Given the description of an element on the screen output the (x, y) to click on. 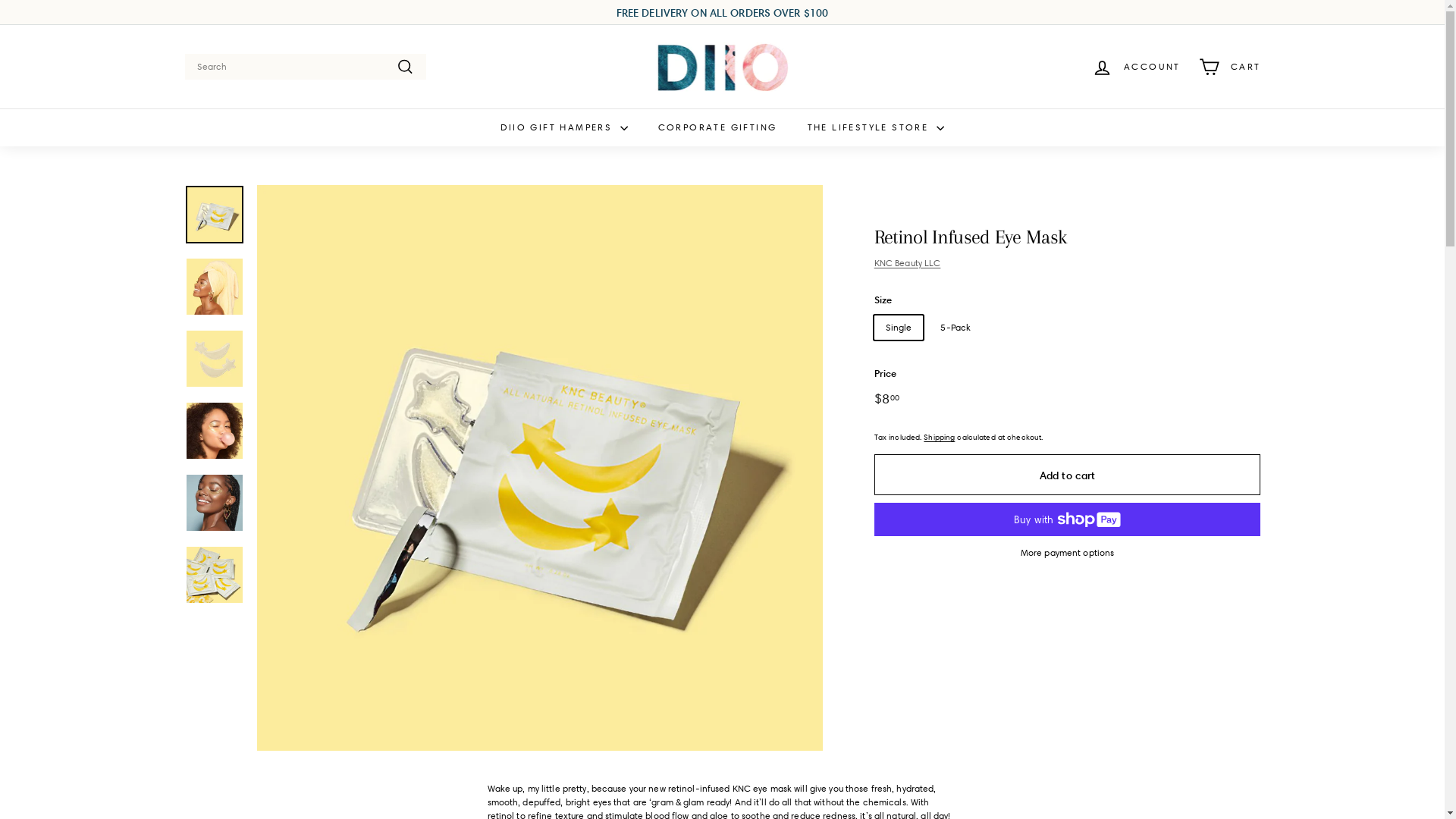
KNC Beauty LLC Element type: text (907, 262)
ACCOUNT Element type: text (1135, 66)
Add to cart Element type: text (1067, 474)
Shipping Element type: text (938, 437)
CORPORATE GIFTING Element type: text (717, 127)
More payment options Element type: text (1067, 552)
CART Element type: text (1229, 66)
